Given the description of an element on the screen output the (x, y) to click on. 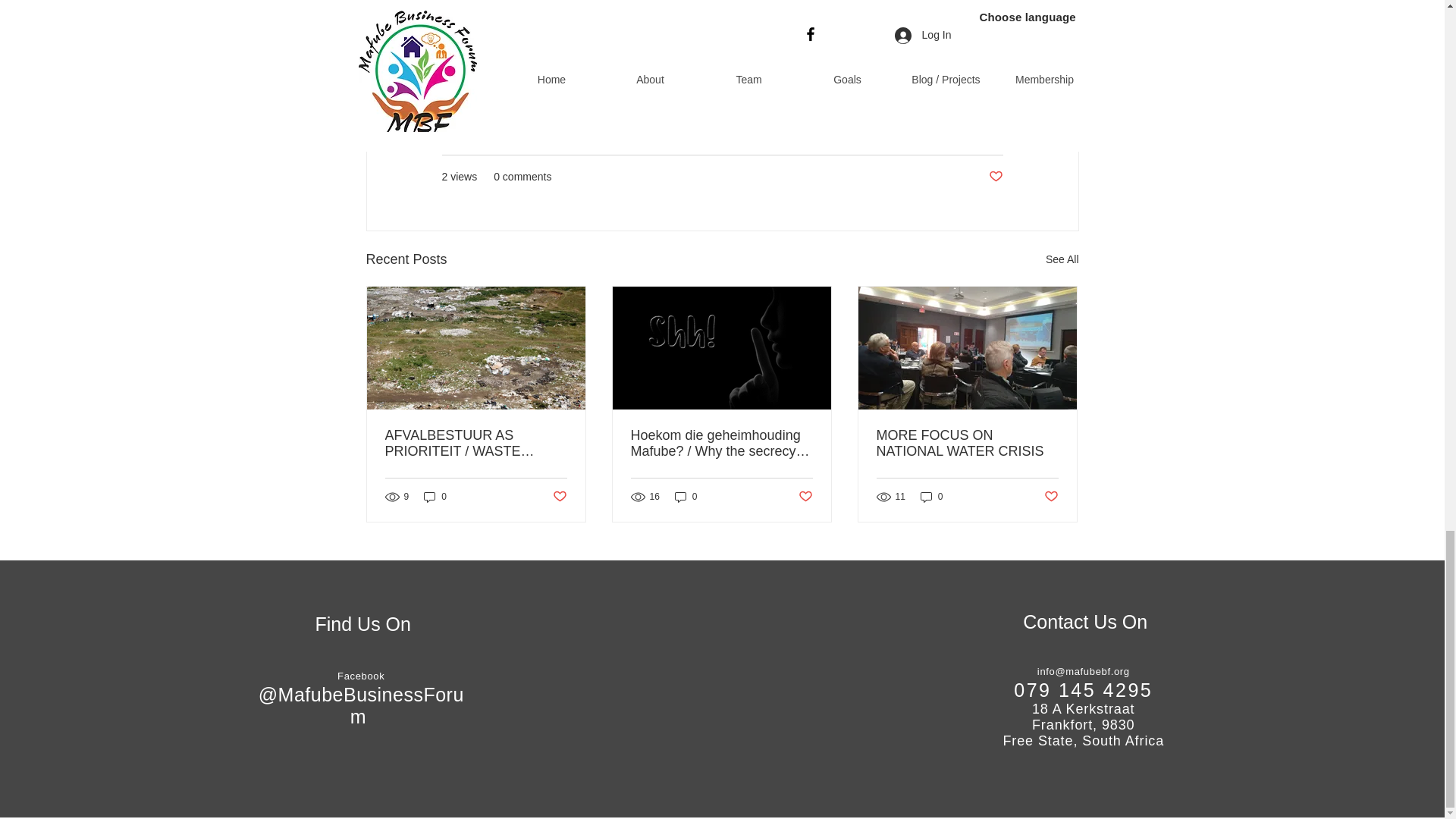
Post not marked as liked (995, 176)
www.mafubebf.org (497, 18)
0 (931, 496)
Post not marked as liked (804, 496)
0 (685, 496)
See All (1061, 259)
MORE FOCUS ON NATIONAL WATER CRISIS (967, 443)
Post not marked as liked (558, 496)
Post not marked as liked (1050, 496)
0 (435, 496)
